Given the description of an element on the screen output the (x, y) to click on. 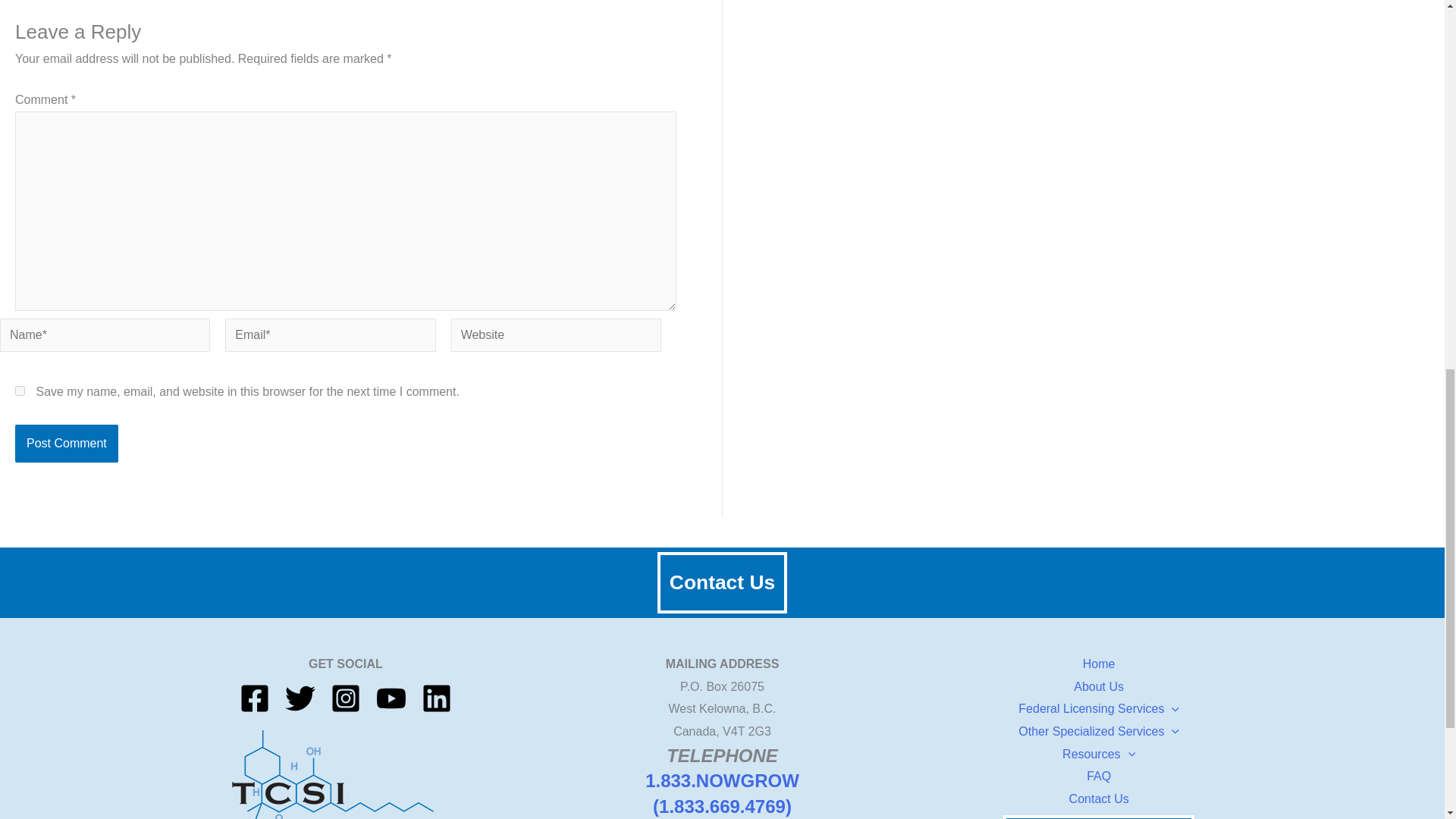
Post Comment (65, 443)
yes (19, 390)
Canadian Cannabis Licensing Experts (345, 774)
